Given the description of an element on the screen output the (x, y) to click on. 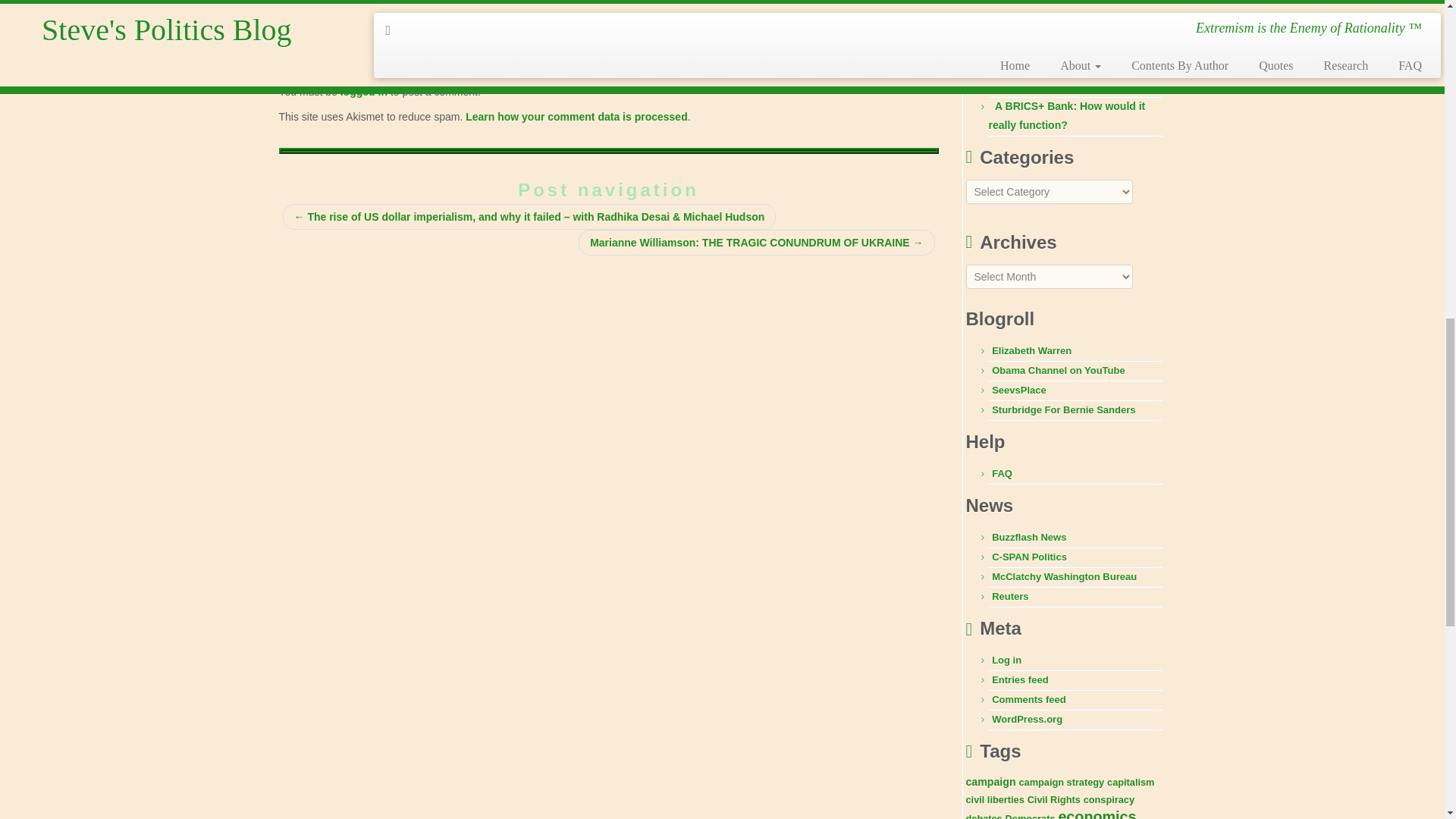
Facebook page of Sturbridge For Bernie Sanders (1063, 409)
logged in (363, 91)
Learn how your comment data is processed (576, 116)
